Given the description of an element on the screen output the (x, y) to click on. 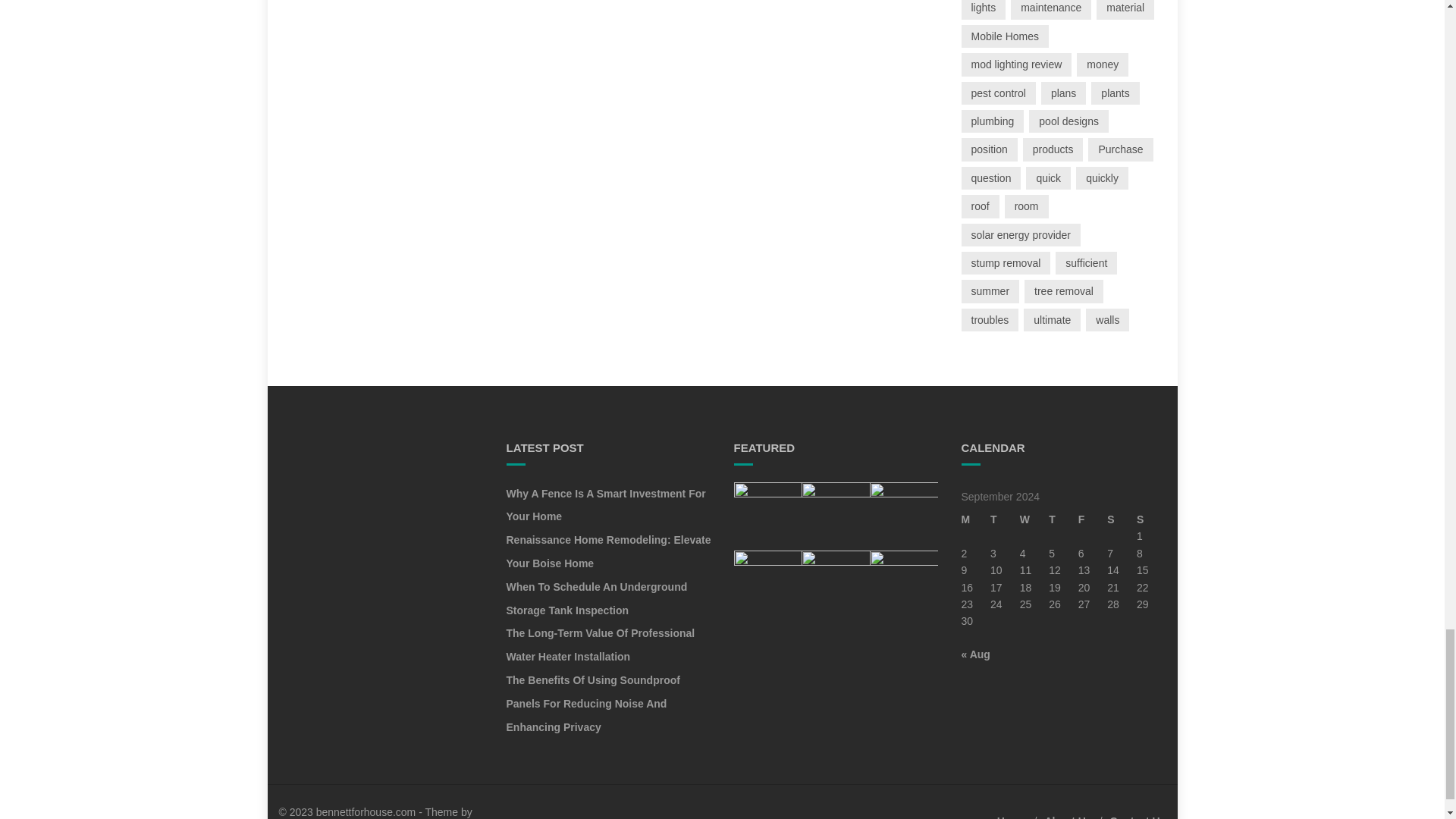
Friday (1093, 519)
Sunday (1151, 519)
Saturday (1121, 519)
Wednesday (1034, 519)
Monday (975, 519)
Thursday (1063, 519)
Tuesday (1005, 519)
